Given the description of an element on the screen output the (x, y) to click on. 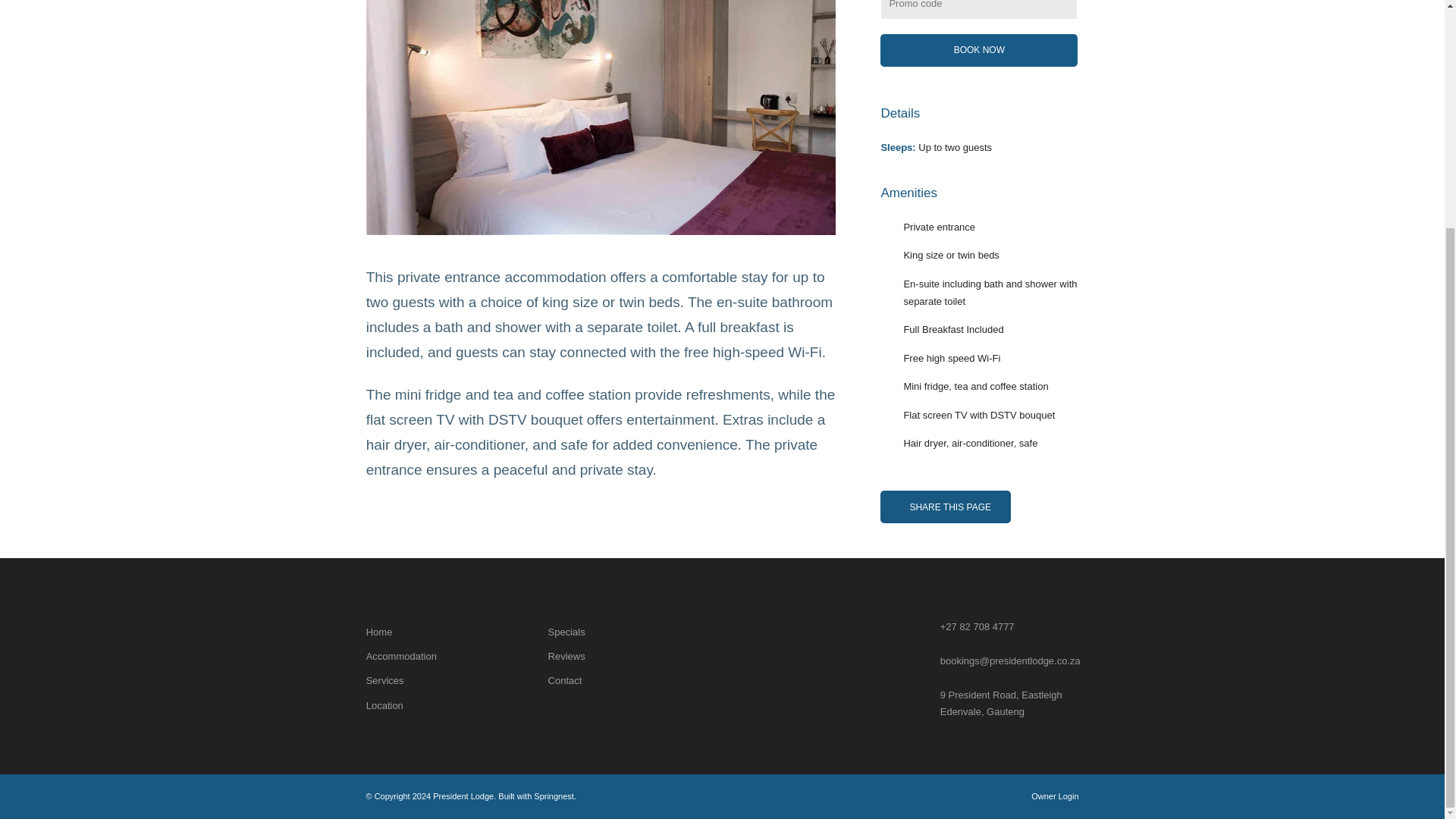
Book Now (978, 50)
SHARE THIS PAGE (945, 507)
Home (379, 632)
Book Now (978, 50)
Accommodation and Conference Facility near OR Tambo (379, 632)
Accommodation (401, 655)
